Given the description of an element on the screen output the (x, y) to click on. 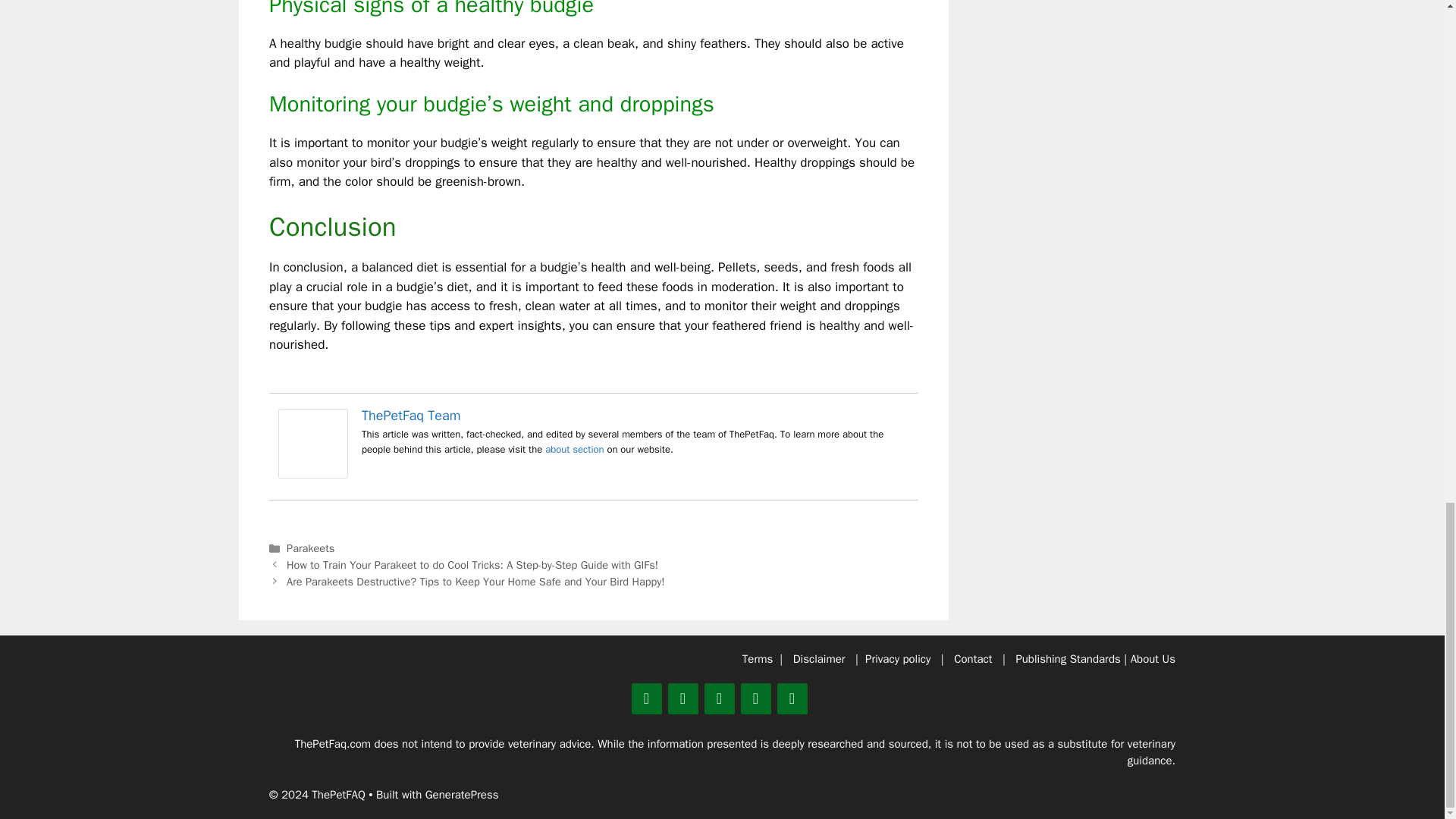
Pinterest (681, 698)
ThePetFaq Team (411, 415)
ThePetFaq Team (312, 474)
about section (574, 449)
YouTube (791, 698)
Instagram (754, 698)
Twitter (645, 698)
Facebook (718, 698)
